Given the description of an element on the screen output the (x, y) to click on. 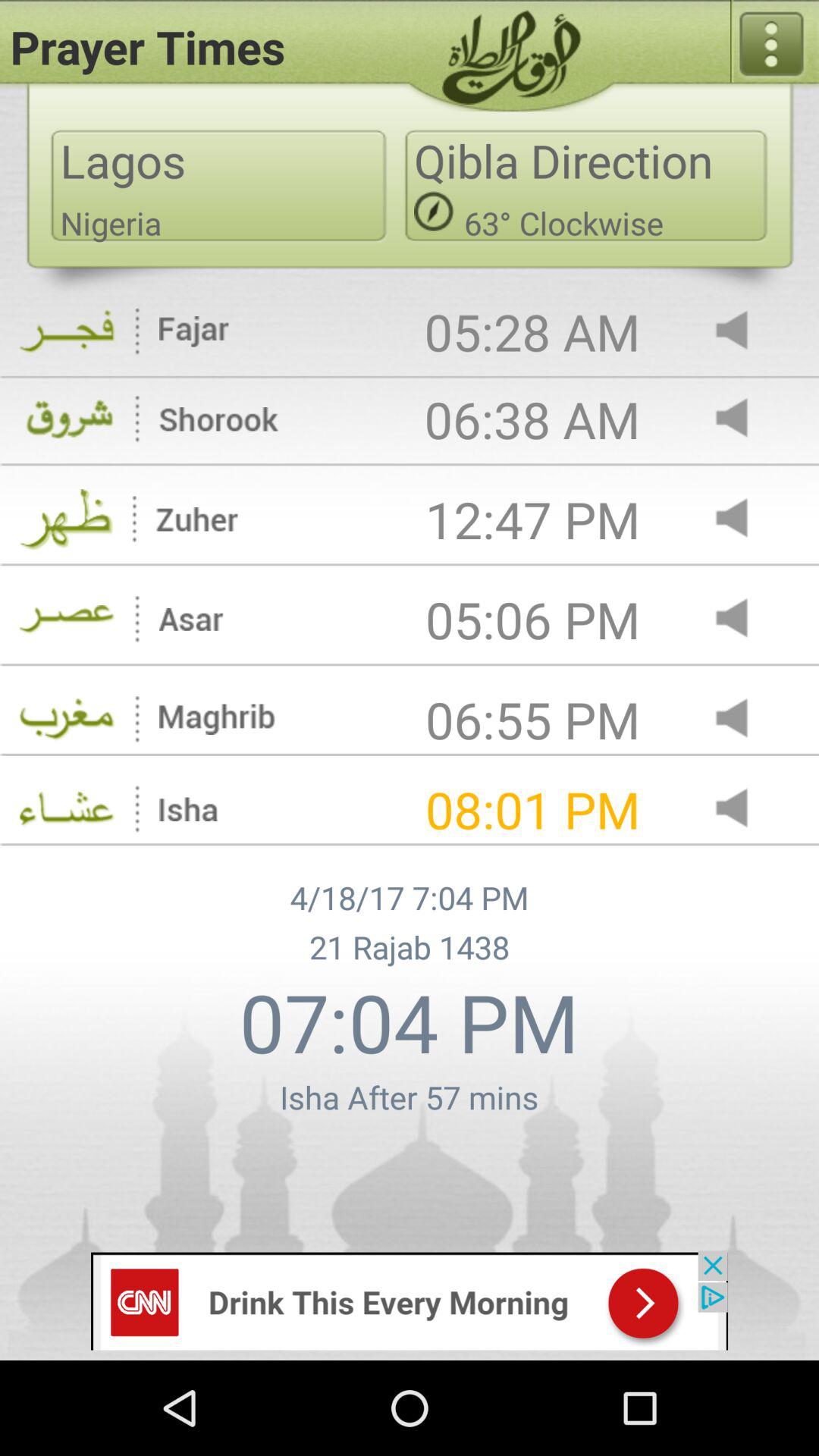
toggle volume (744, 331)
